Given the description of an element on the screen output the (x, y) to click on. 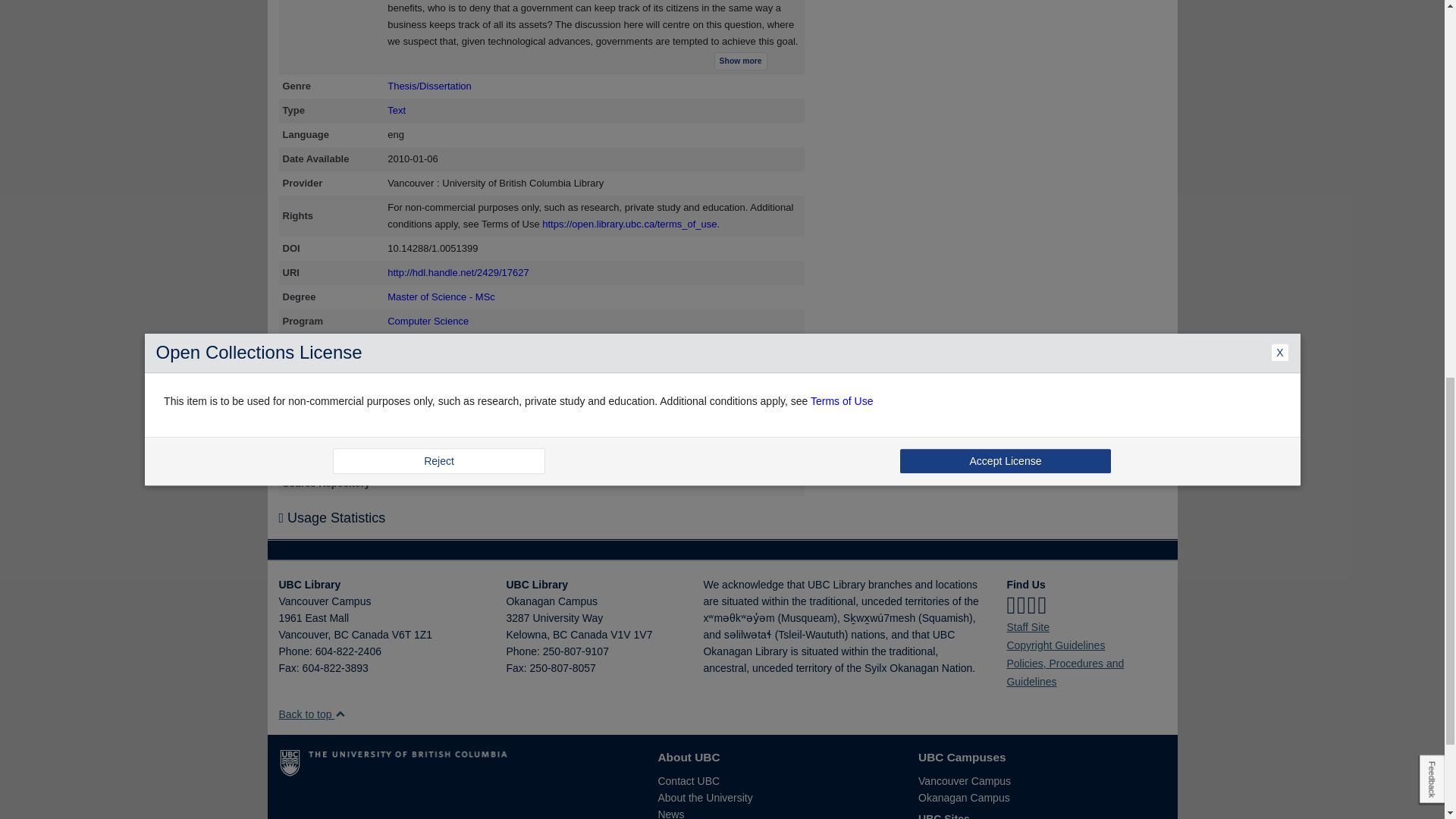
British Columbia (340, 634)
British Columbia (560, 634)
